Given the description of an element on the screen output the (x, y) to click on. 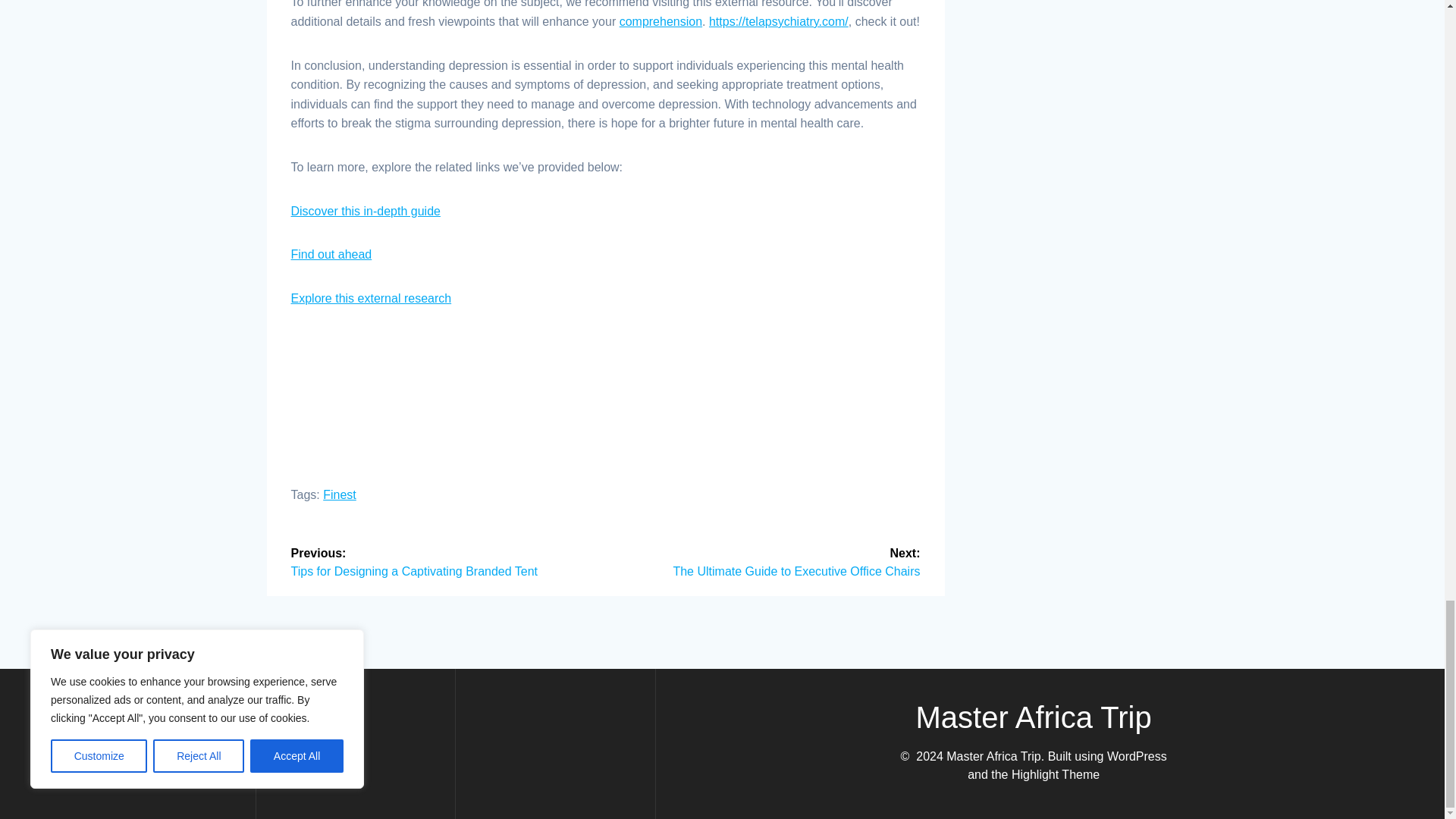
comprehension (660, 21)
Explore this external research (371, 297)
Discover this in-depth guide (366, 210)
Finest (339, 494)
Find out ahead (331, 254)
